Given the description of an element on the screen output the (x, y) to click on. 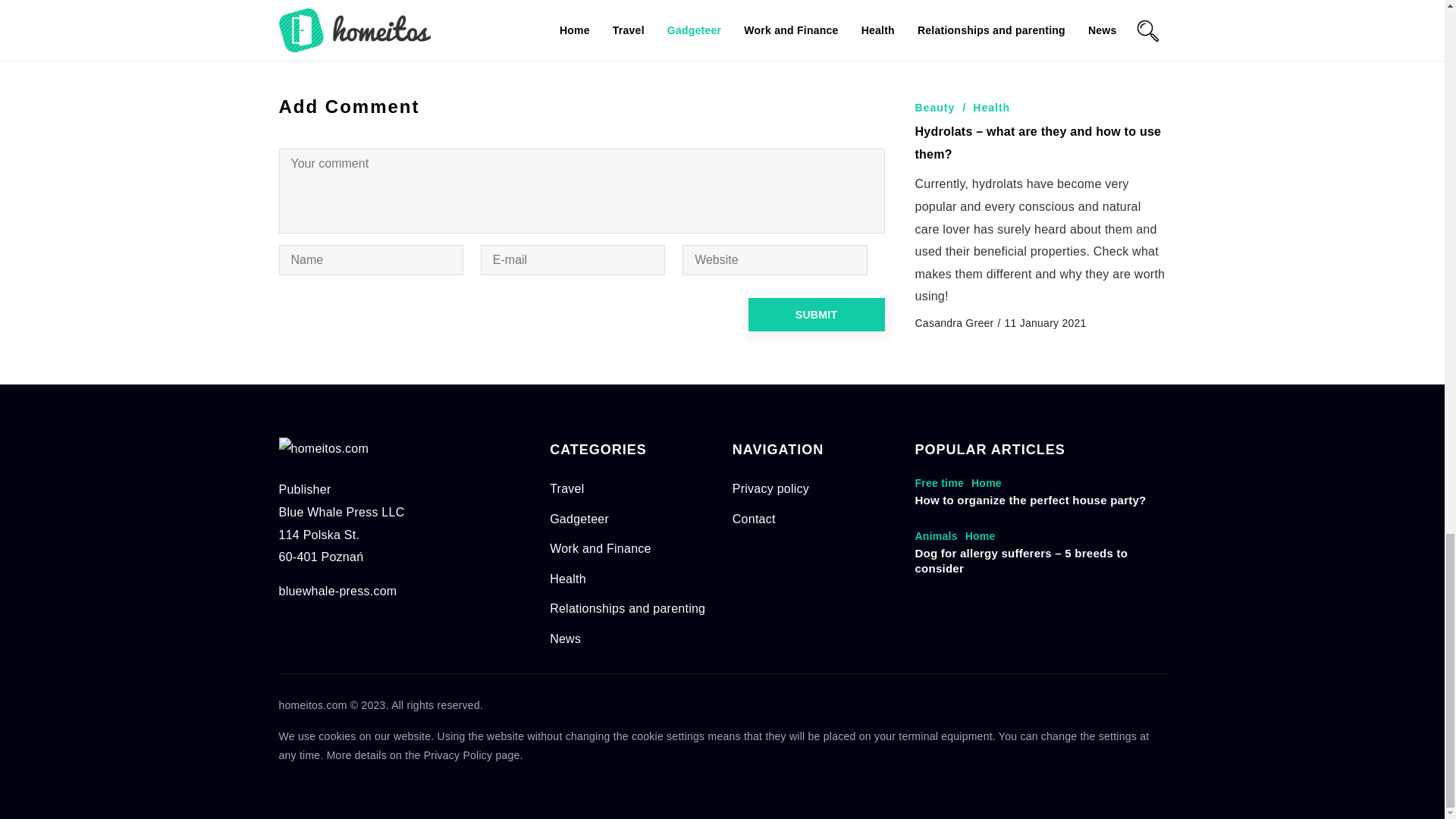
Can a console pad be connected to a computer? (738, 29)
How to take a photo for a proof by yourself with your phone? (424, 29)
Submit (815, 314)
Submit (815, 314)
